Given the description of an element on the screen output the (x, y) to click on. 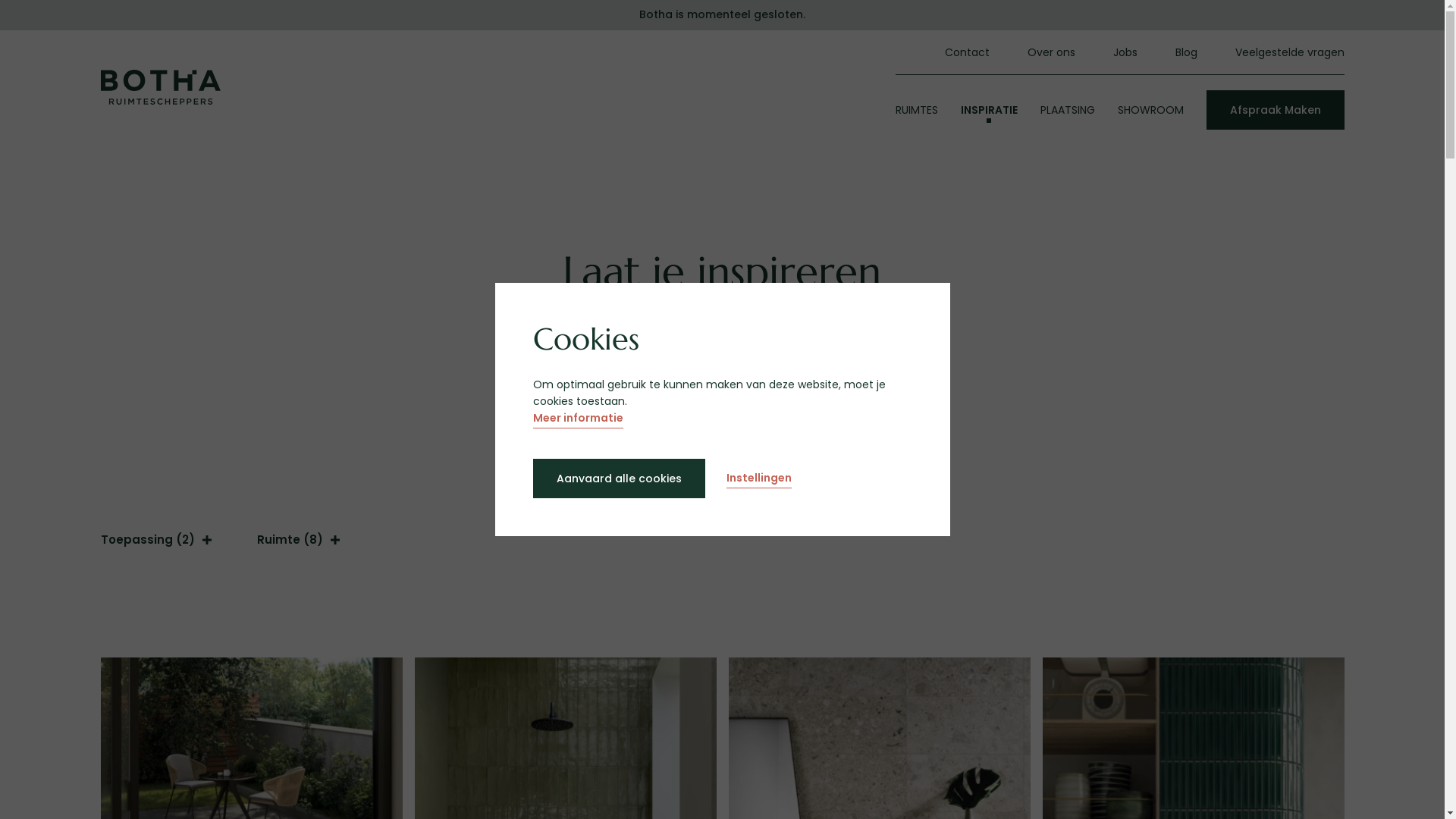
Afspraak Maken Element type: text (1274, 109)
Instellingen Element type: text (758, 479)
Meer informatie Element type: text (577, 419)
INSPIRATIE Element type: text (988, 109)
Veelgestelde vragen Element type: text (1288, 52)
Over ons Element type: text (1050, 52)
Ruimte (8) Element type: text (297, 542)
RUIMTES Element type: text (915, 109)
SHOWROOM Element type: text (1150, 109)
PLAATSING Element type: text (1067, 109)
Toepassing (2) Element type: text (155, 542)
Contact Element type: text (966, 52)
Blog Element type: text (1186, 52)
Aanvaard alle cookies Element type: text (618, 478)
Jobs Element type: text (1125, 52)
